Given the description of an element on the screen output the (x, y) to click on. 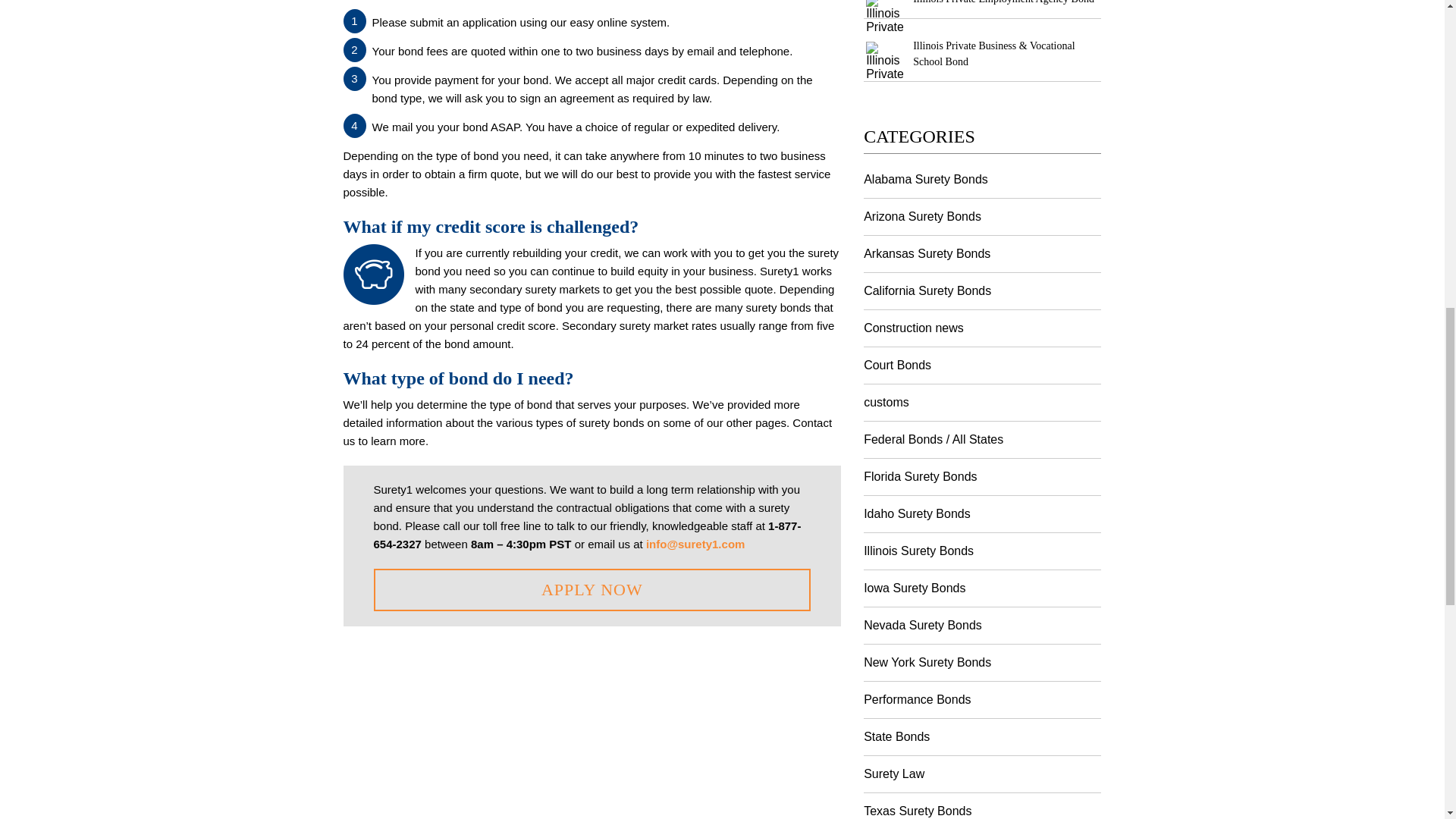
APPLY NOW (591, 589)
Illinois Private Employment Agency Bond (1003, 2)
Arizona Surety Bonds (981, 217)
Alabama Surety Bonds (981, 179)
